Given the description of an element on the screen output the (x, y) to click on. 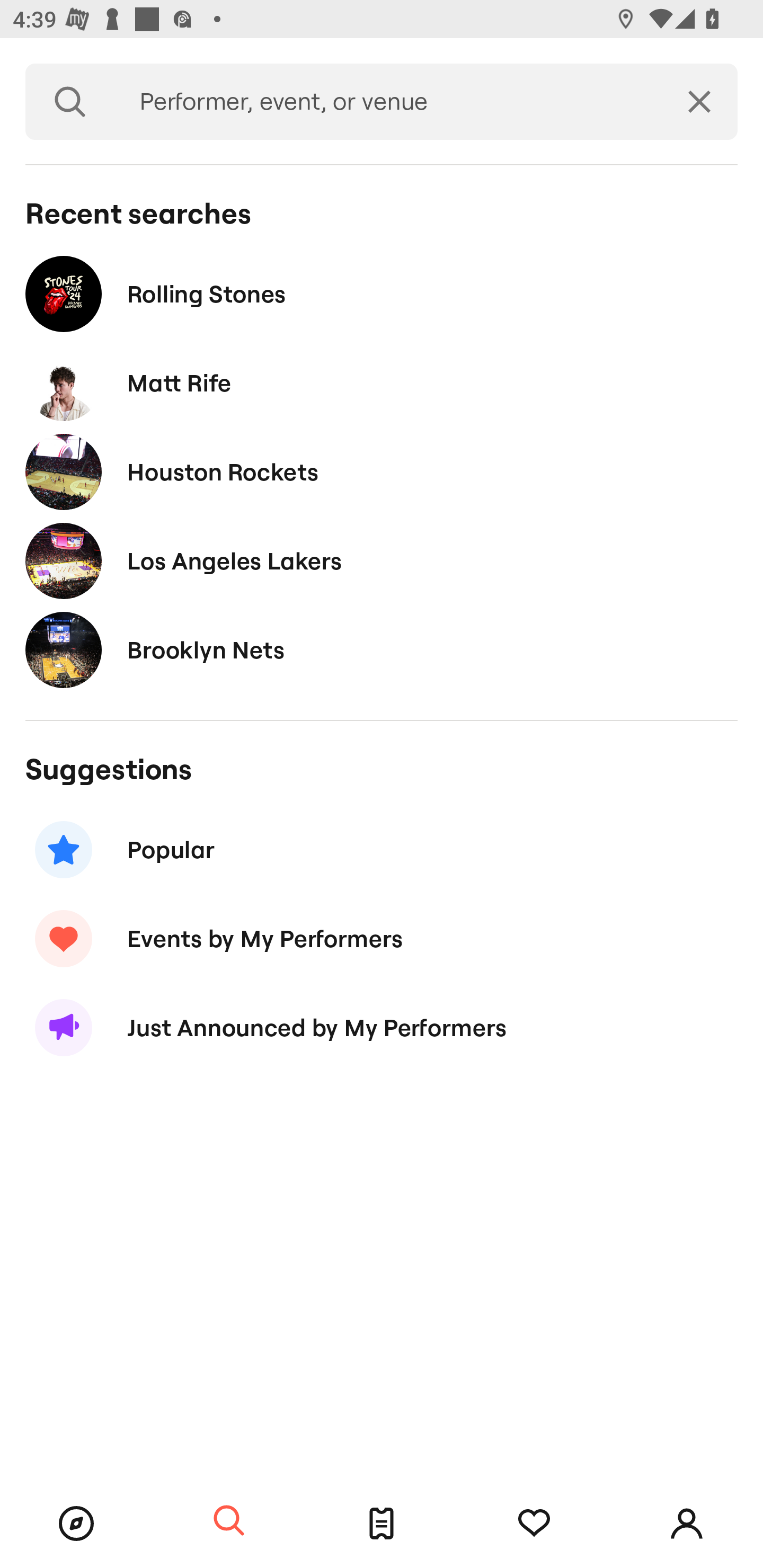
Search (69, 101)
Performer, event, or venue (387, 101)
Clear (699, 101)
Rolling Stones (381, 293)
Matt Rife (381, 383)
Houston Rockets (381, 471)
Los Angeles Lakers (381, 560)
Brooklyn Nets (381, 649)
Popular (381, 849)
Events by My Performers (381, 938)
Just Announced by My Performers (381, 1027)
Browse (76, 1523)
Search (228, 1521)
Tickets (381, 1523)
Tracking (533, 1523)
Account (686, 1523)
